Given the description of an element on the screen output the (x, y) to click on. 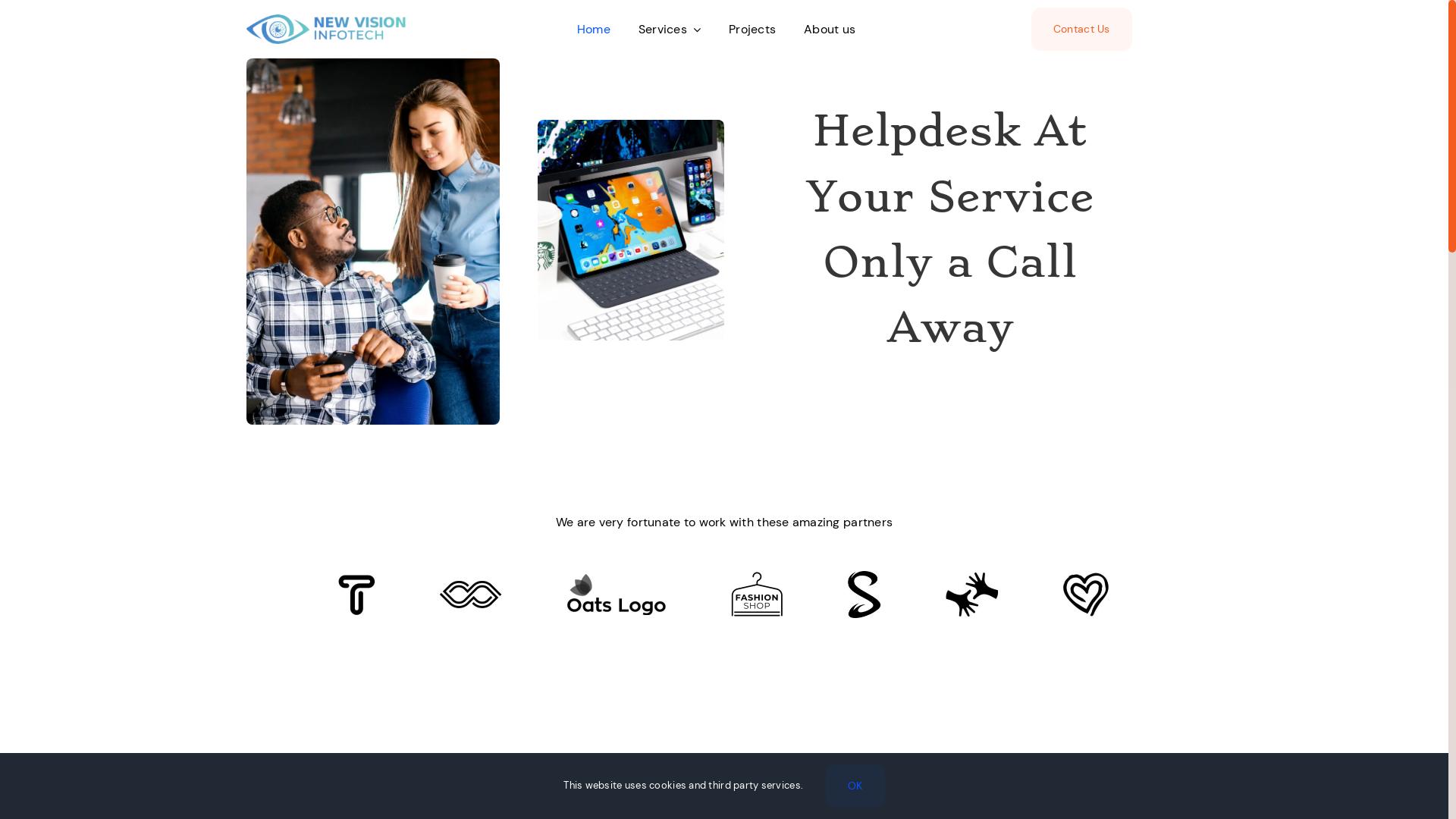
About us Element type: text (829, 28)
Team working Element type: hover (372, 241)
Services Element type: text (669, 28)
Ipad Element type: hover (630, 229)
Projects Element type: text (751, 28)
Home Element type: text (593, 28)
Contact Us Element type: text (1081, 28)
OK Element type: text (854, 785)
